Given the description of an element on the screen output the (x, y) to click on. 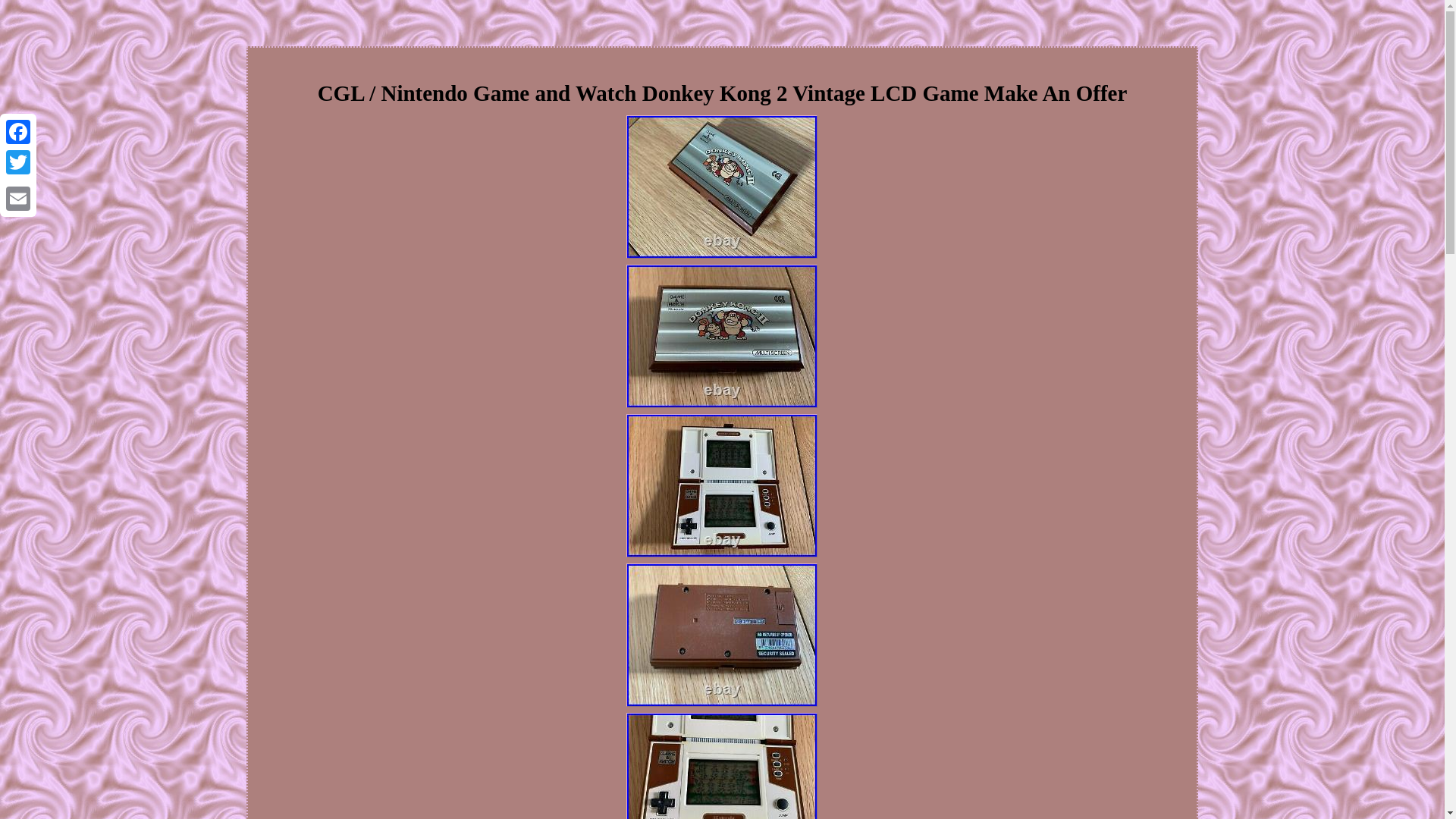
Email (17, 198)
Facebook (17, 132)
Twitter (17, 162)
